Given the description of an element on the screen output the (x, y) to click on. 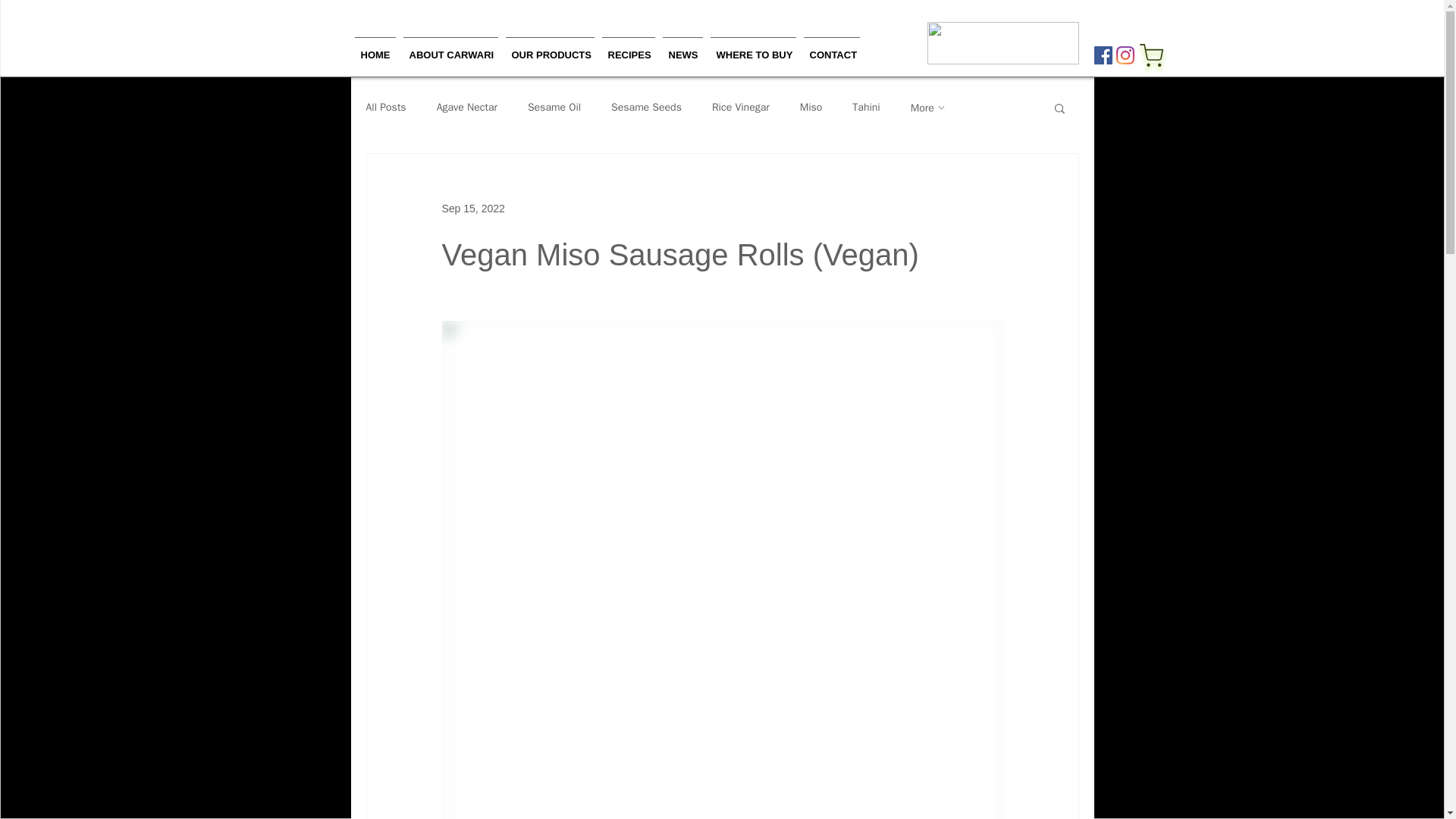
ABOUT CARWARI (449, 47)
OUR PRODUCTS (550, 47)
Sep 15, 2022 (472, 207)
RECIPES (627, 47)
NEWS (682, 47)
WHERE TO BUY (752, 47)
HOME (374, 47)
logo-black.png (1002, 43)
